Given the description of an element on the screen output the (x, y) to click on. 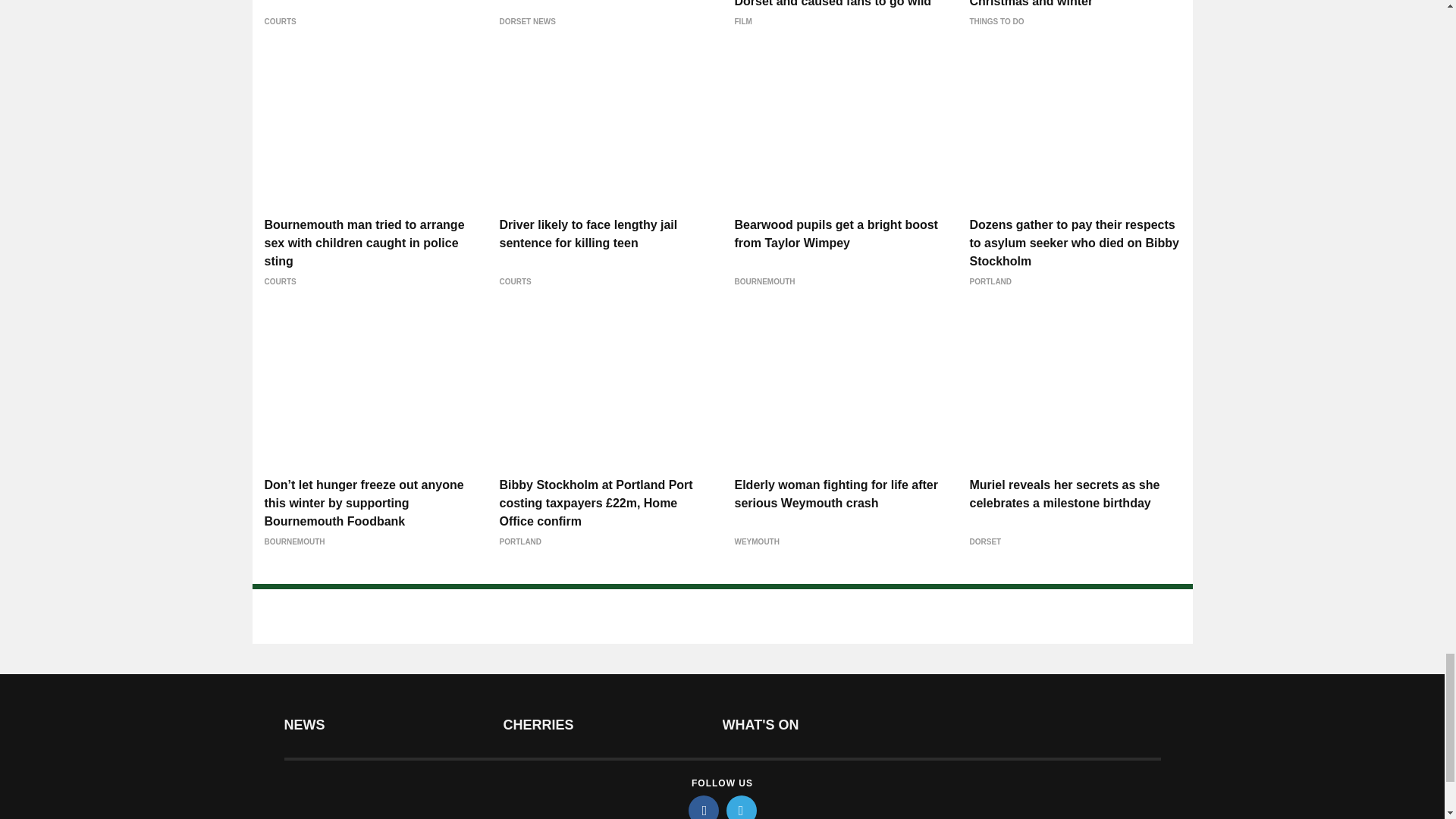
twitter (741, 807)
facebook (703, 807)
